Given the description of an element on the screen output the (x, y) to click on. 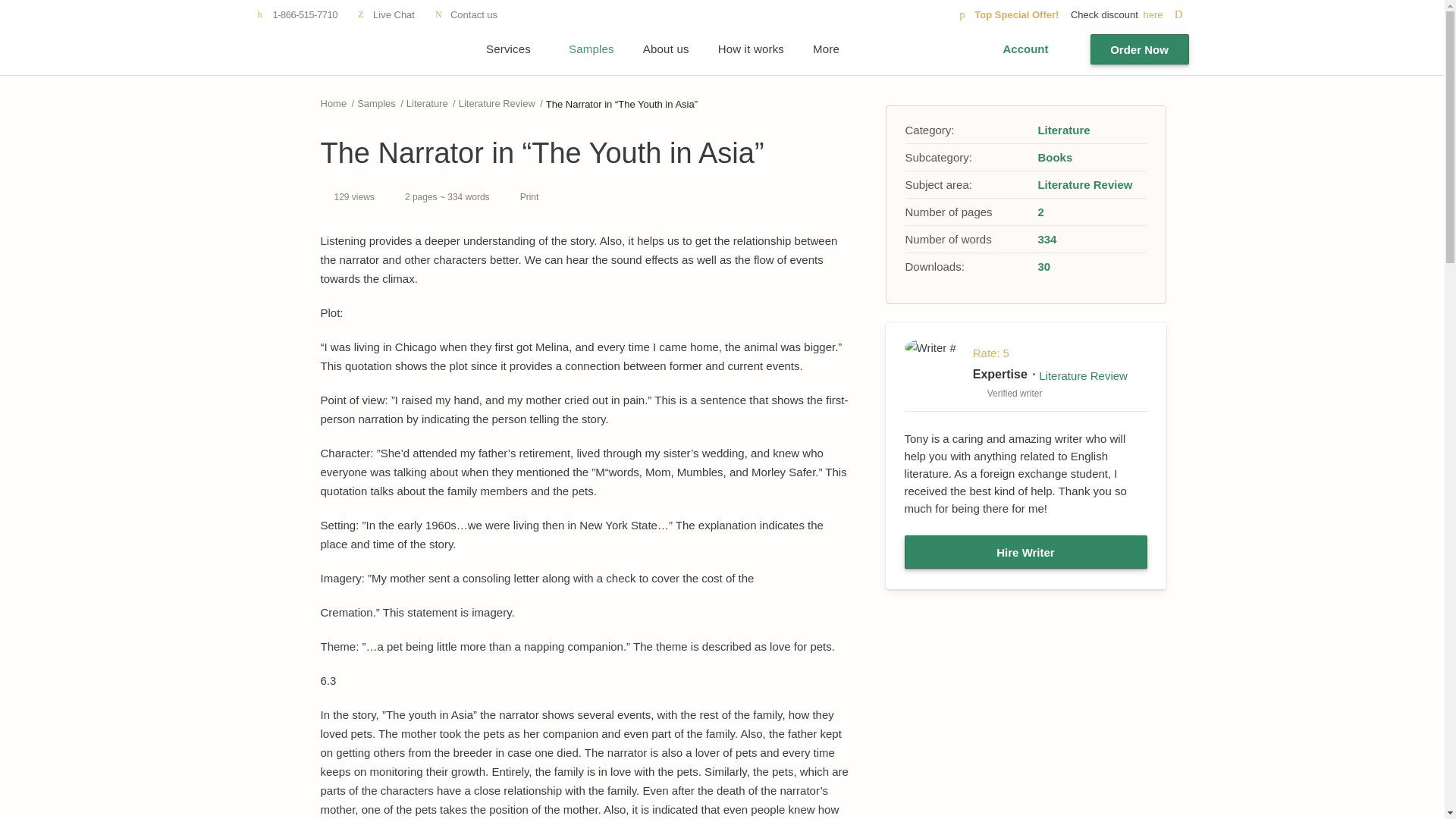
Samples (376, 102)
Literature (427, 102)
About us (665, 49)
Order Now (1139, 49)
How it works (750, 49)
Literature (1062, 130)
here (1165, 14)
Samples (591, 49)
1-866-515-7710 (296, 14)
Literature Review (496, 102)
